Given the description of an element on the screen output the (x, y) to click on. 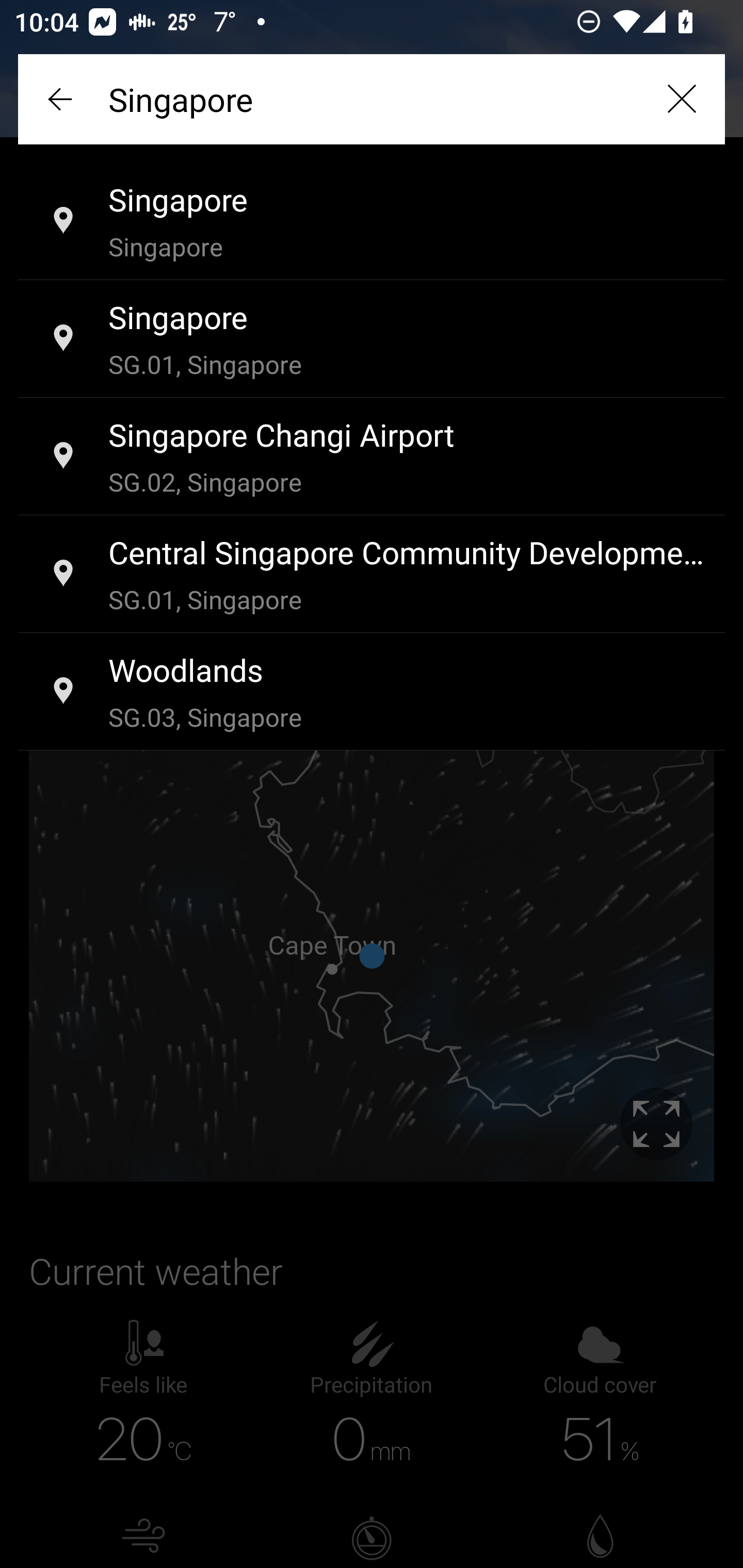
Singapore (371, 99)
 (681, 99)
 (61, 99)
 Singapore Singapore (371, 221)
 Singapore SG.01, Singapore (371, 339)
 Singapore Changi Airport SG.02, Singapore (371, 456)
 Woodlands SG.03, Singapore (371, 692)
